Given the description of an element on the screen output the (x, y) to click on. 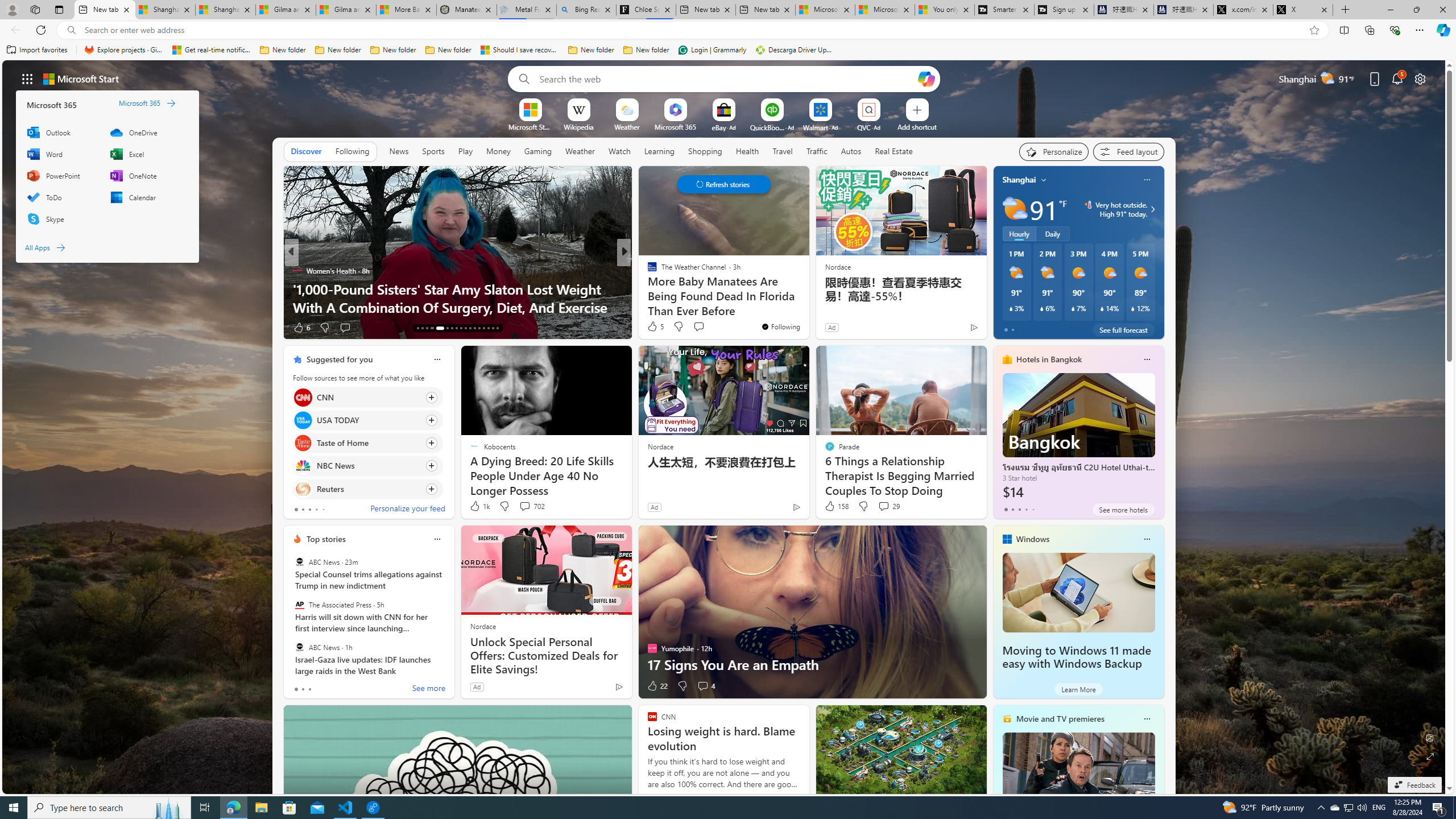
AutomationID: tab-21 (460, 328)
USA TODAY (302, 419)
Descarga Driver Updater (794, 49)
AutomationID: tab-15 (426, 328)
View comments 4 Comment (703, 685)
New folder (646, 49)
9 Like (651, 327)
269 Like (654, 327)
Class: arrow-icon (60, 247)
View comments 25 Comment (704, 327)
